Given the description of an element on the screen output the (x, y) to click on. 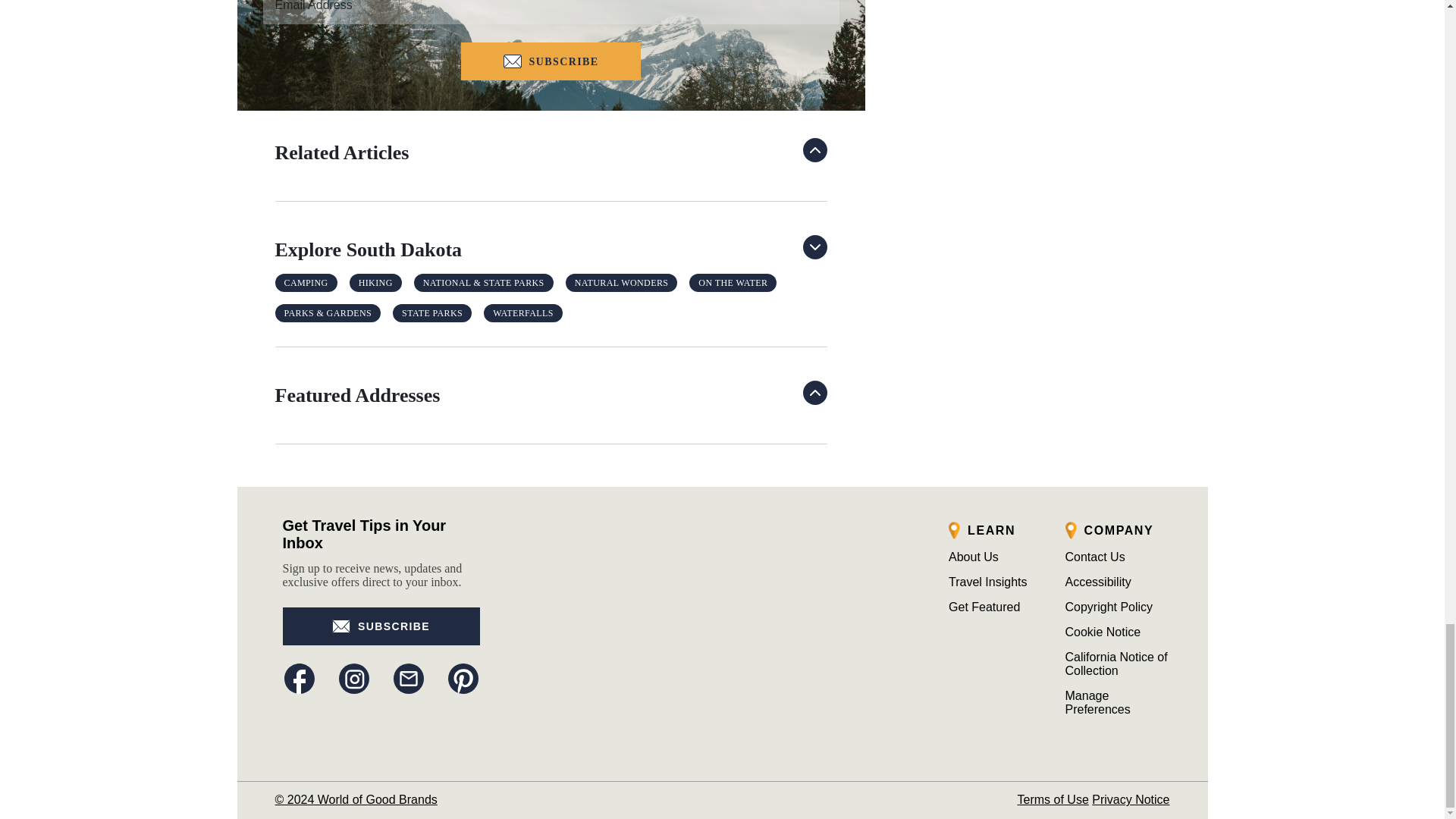
Natural Wonders (621, 282)
Camping (305, 282)
Hiking (375, 282)
Waterfalls (523, 312)
State Parks (432, 312)
On the Water (732, 282)
facebook (298, 678)
instagram (352, 678)
pinterest (461, 678)
newsletter (408, 678)
